Given the description of an element on the screen output the (x, y) to click on. 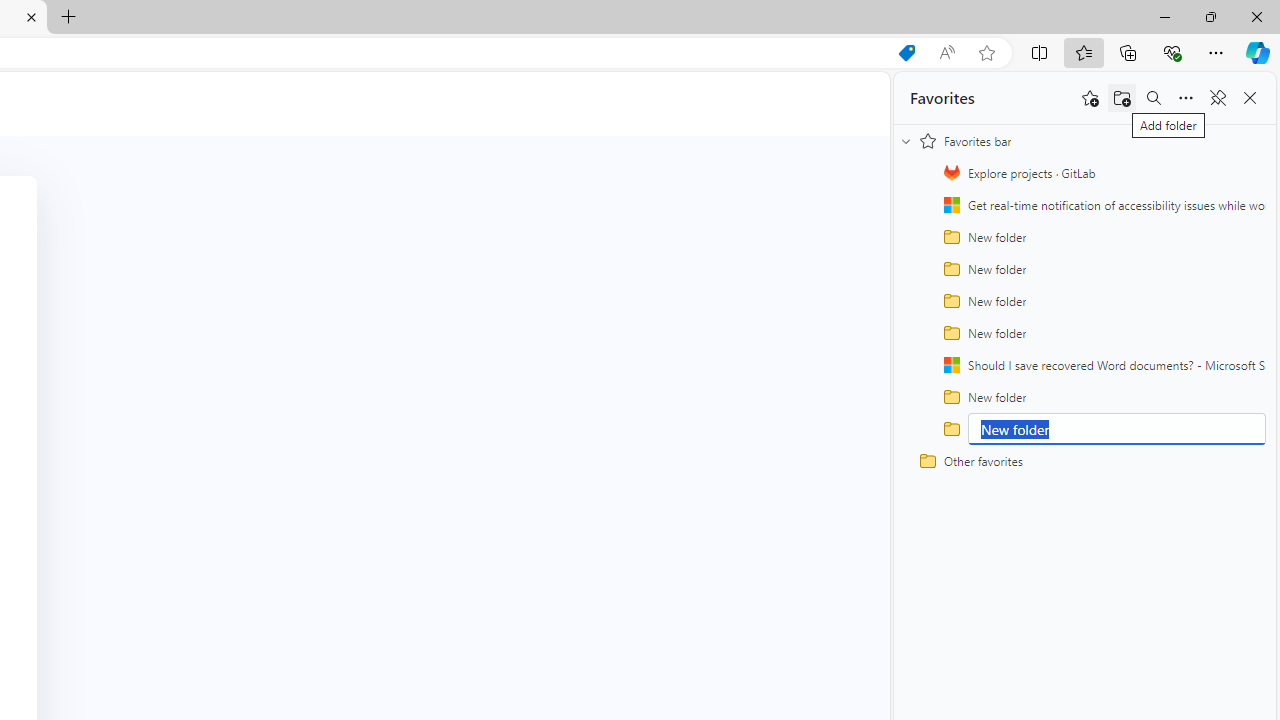
Shopping in Microsoft Edge (906, 53)
Search favorites (1153, 98)
Close favorites (1250, 98)
